Given the description of an element on the screen output the (x, y) to click on. 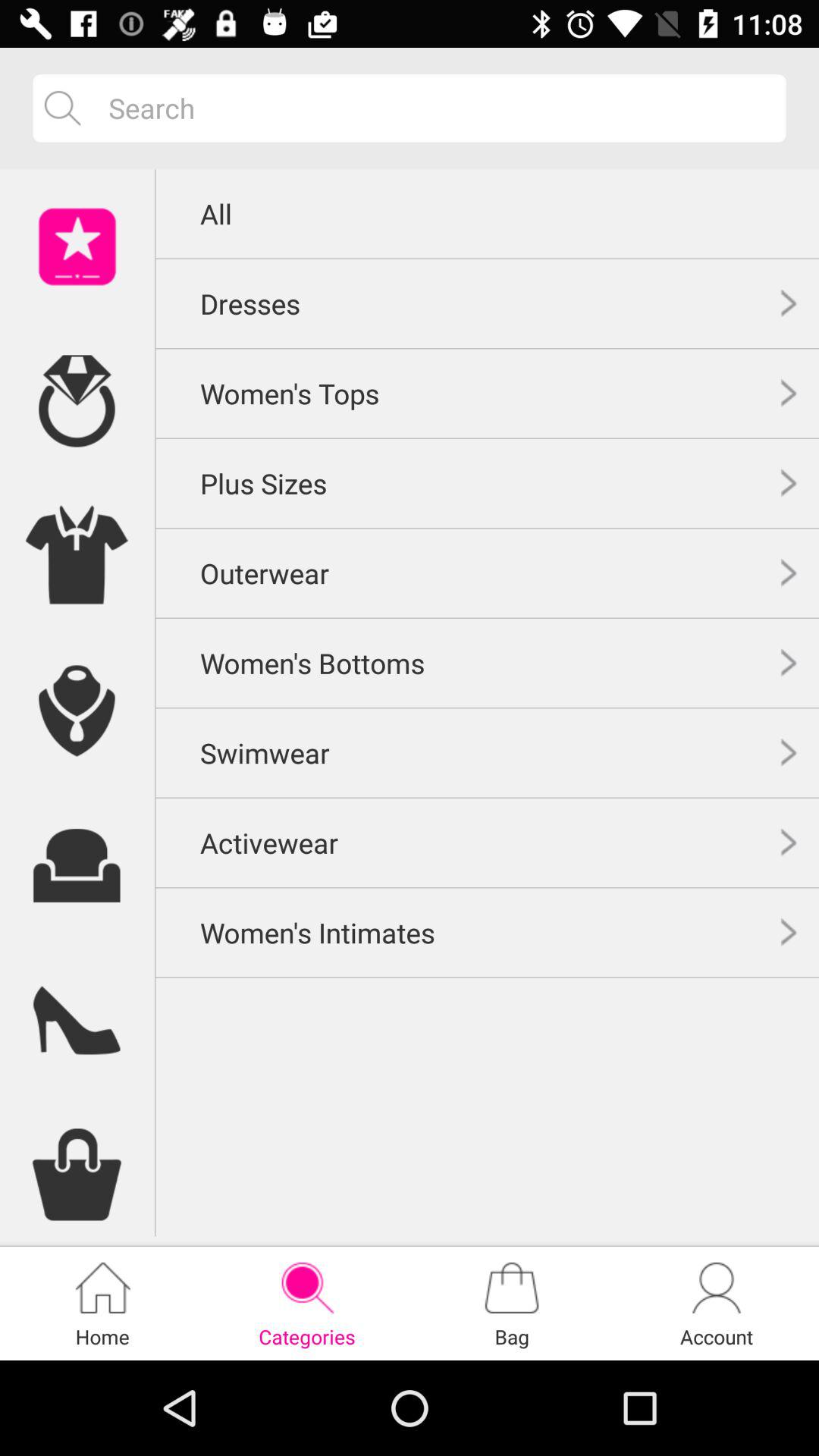
search option (435, 108)
